Given the description of an element on the screen output the (x, y) to click on. 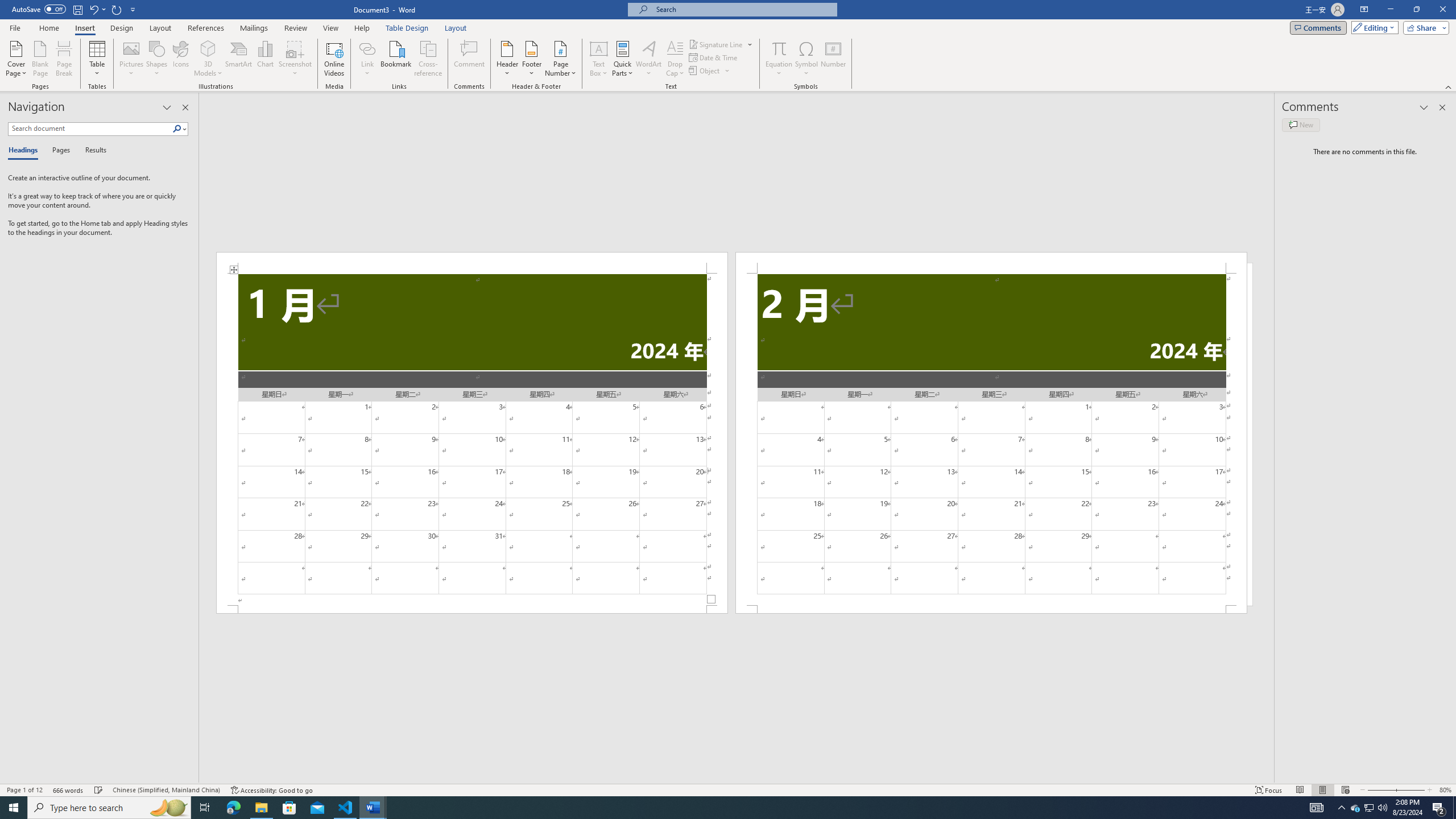
Header -Section 2- (991, 263)
Header (507, 58)
Equation (778, 48)
Chart... (265, 58)
Object... (705, 69)
